Given the description of an element on the screen output the (x, y) to click on. 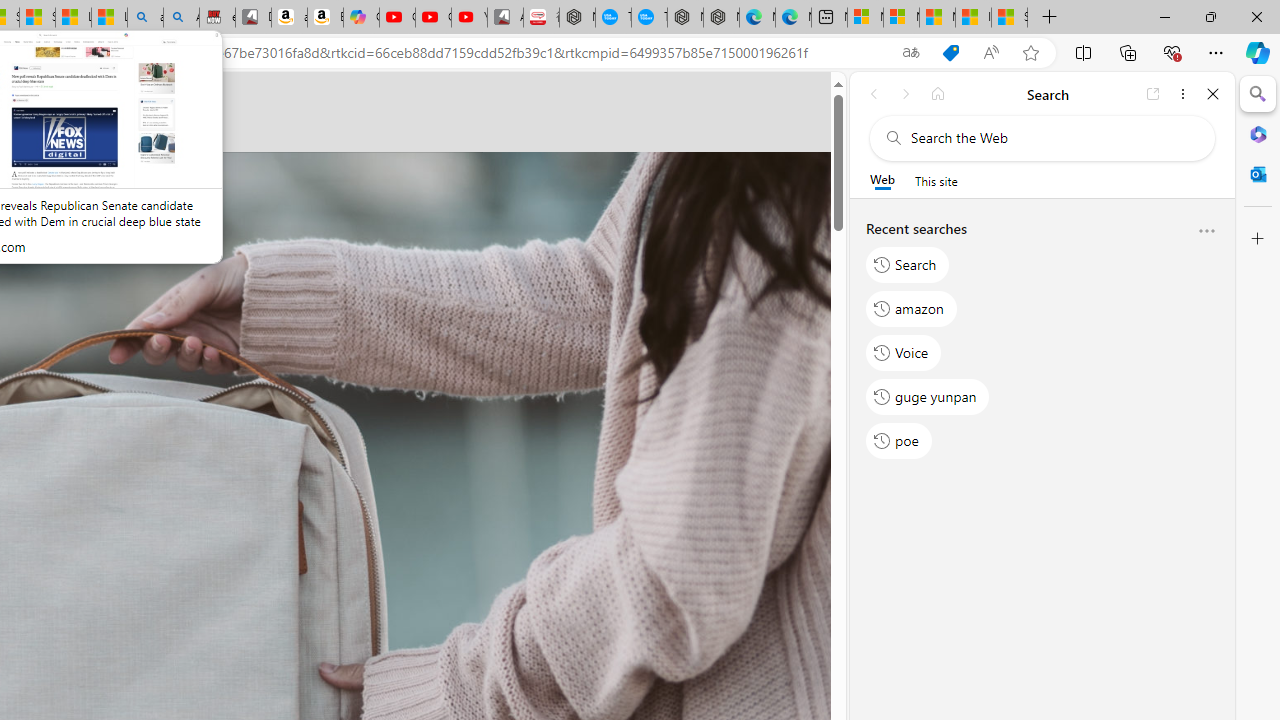
Microsoft account | Privacy (901, 17)
Amazon Echo Dot PNG - Search Images (180, 17)
This site has coupons! Shopping in Microsoft Edge (950, 53)
poe (898, 441)
Open link in new tab (1153, 93)
Copilot (361, 17)
